Given the description of an element on the screen output the (x, y) to click on. 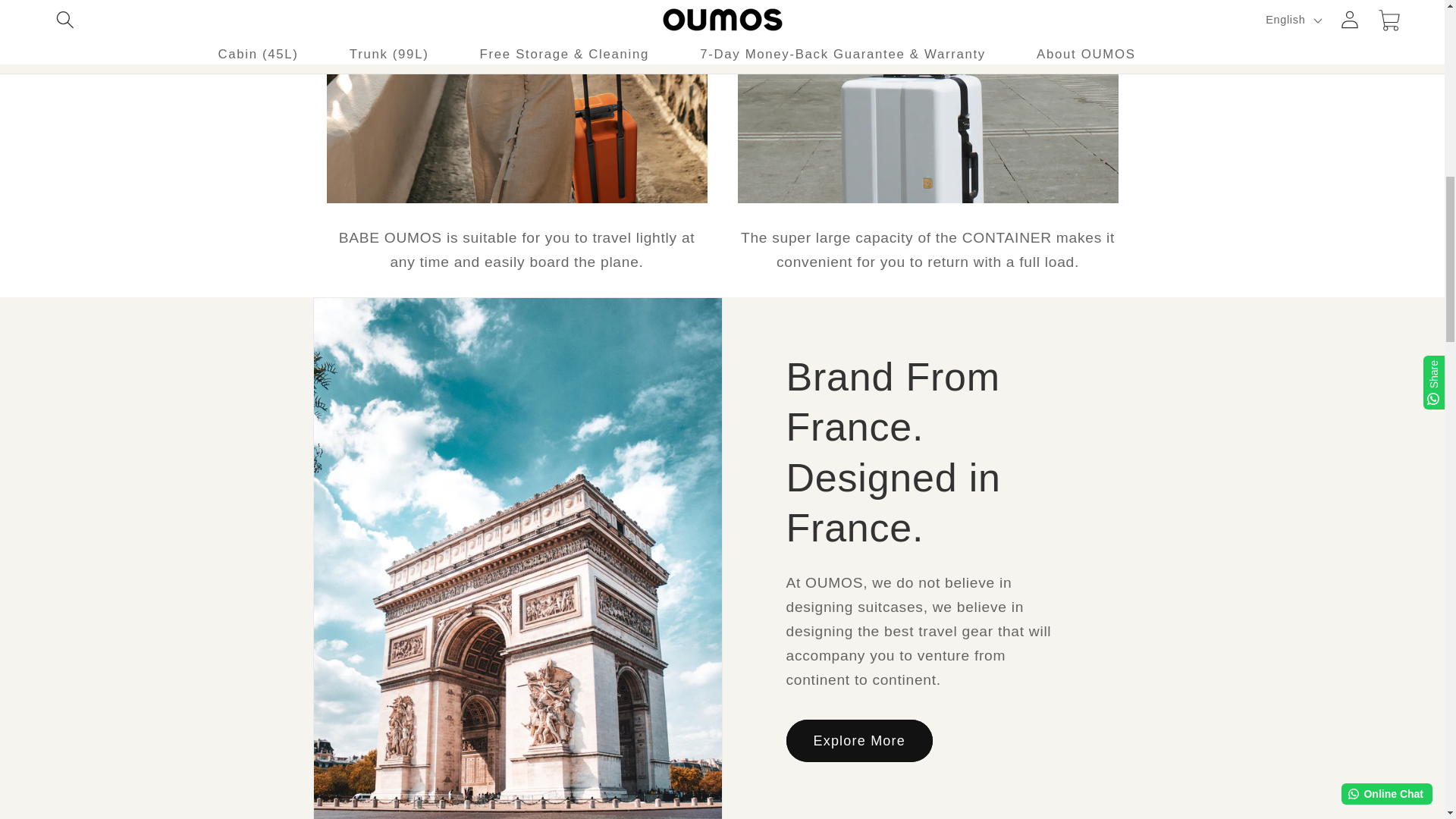
Buy Now  (516, 148)
Buy Now  (927, 148)
Explore More (858, 740)
